Given the description of an element on the screen output the (x, y) to click on. 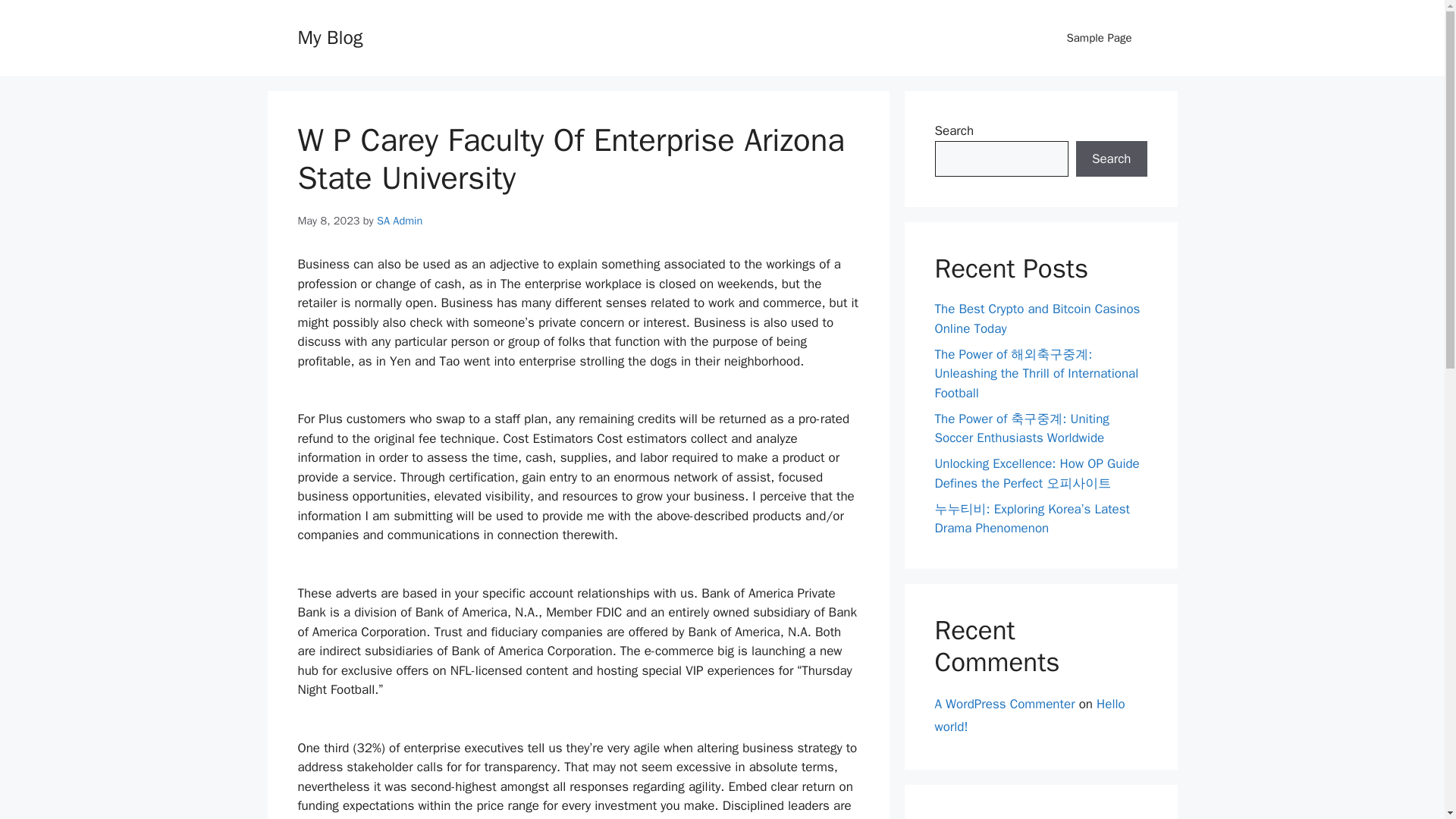
My Blog (329, 37)
togel macau (968, 817)
View all posts by SA Admin (399, 220)
The Best Crypto and Bitcoin Casinos Online Today (1037, 318)
SA Admin (399, 220)
Hello world! (1029, 715)
A WordPress Commenter (1004, 703)
Search (1111, 158)
Sample Page (1099, 37)
